Given the description of an element on the screen output the (x, y) to click on. 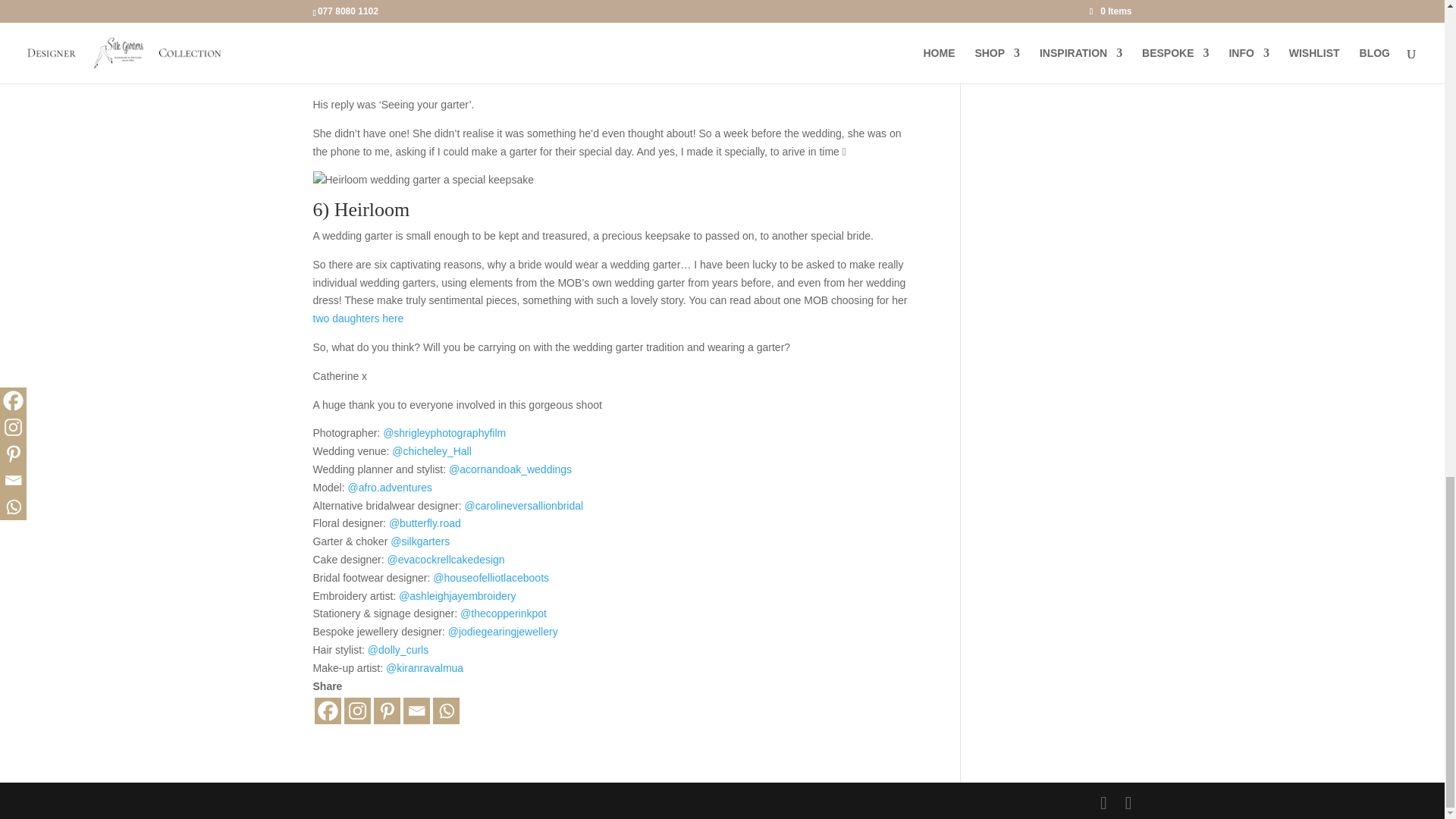
Instagram (357, 710)
Email (416, 710)
Facebook (327, 710)
Whatsapp (445, 710)
Pinterest (385, 710)
